Given the description of an element on the screen output the (x, y) to click on. 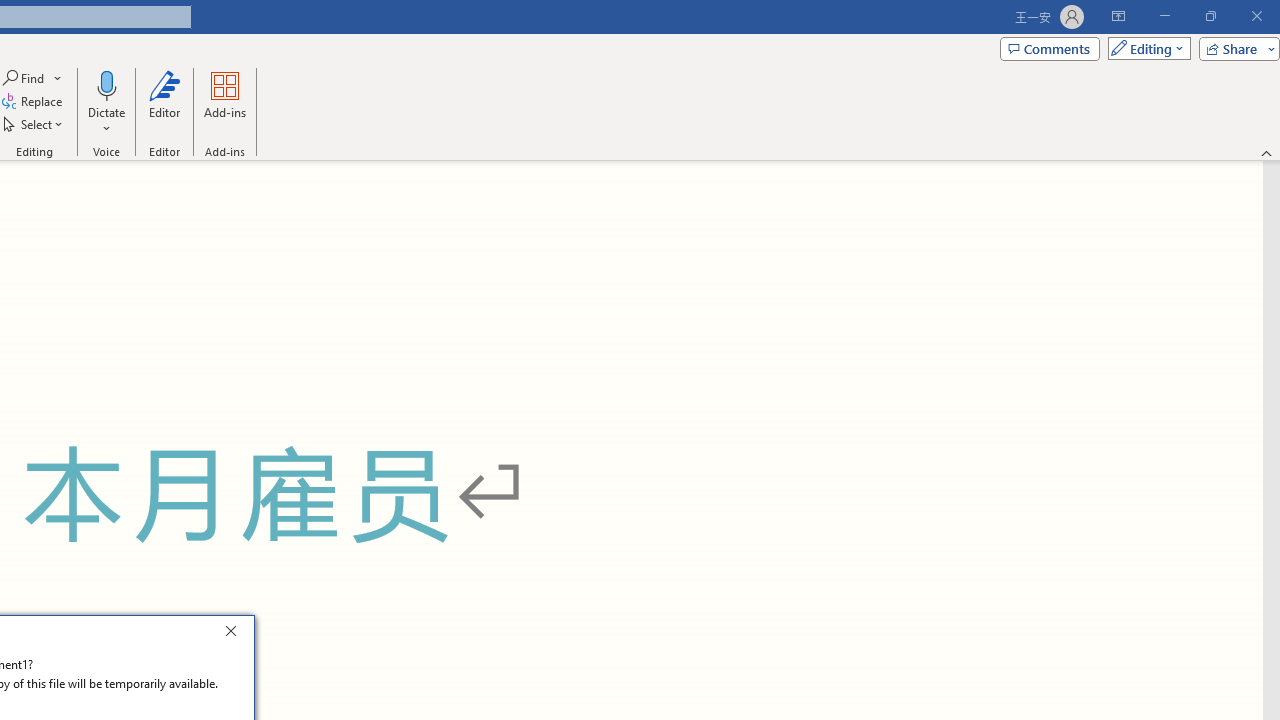
Editing (1144, 47)
